Given the description of an element on the screen output the (x, y) to click on. 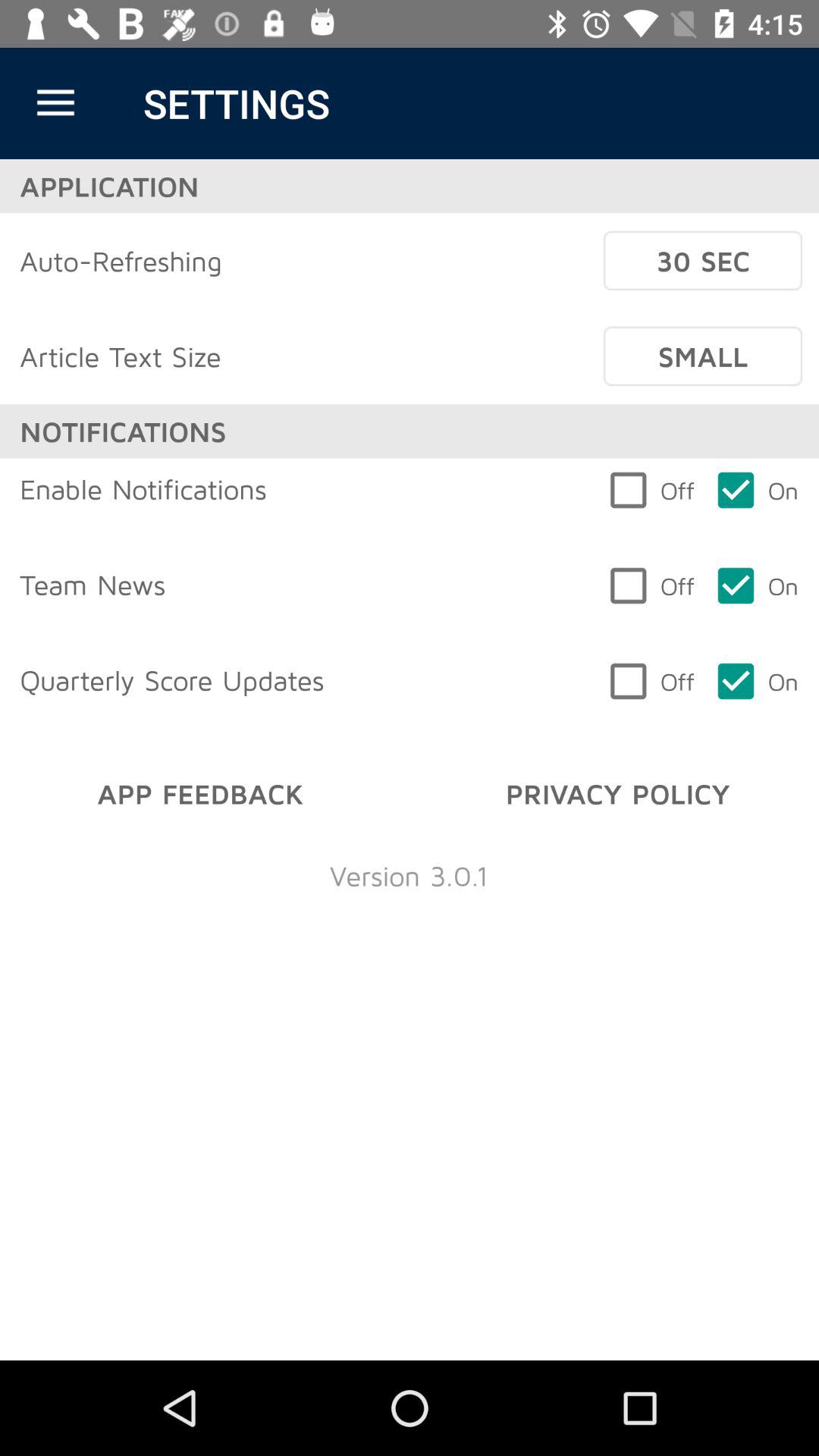
select version 3 0 item (408, 875)
